Given the description of an element on the screen output the (x, y) to click on. 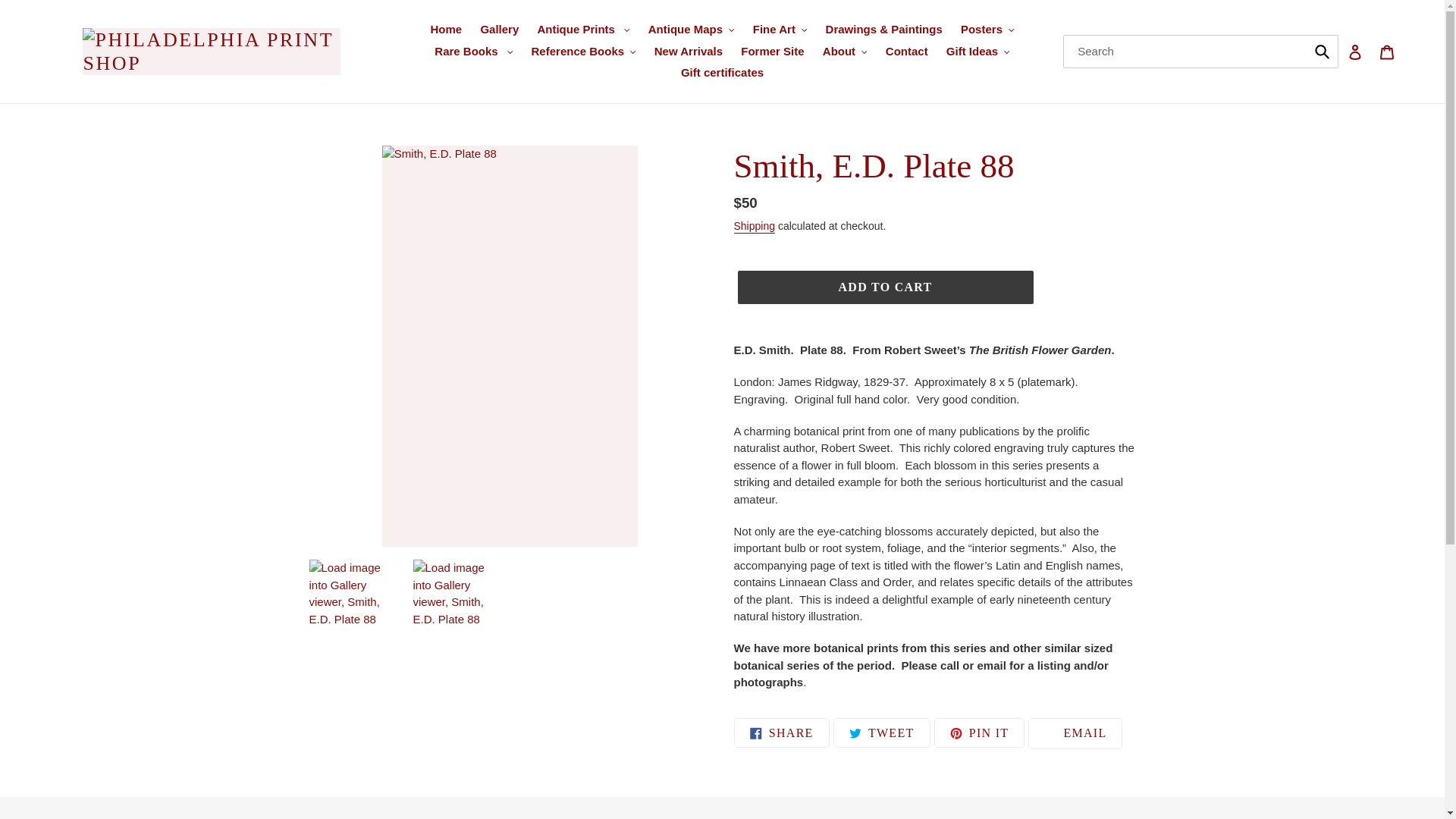
Antique Prints (583, 29)
Gallery (498, 29)
Home (446, 29)
Share by Email (1074, 733)
